Given the description of an element on the screen output the (x, y) to click on. 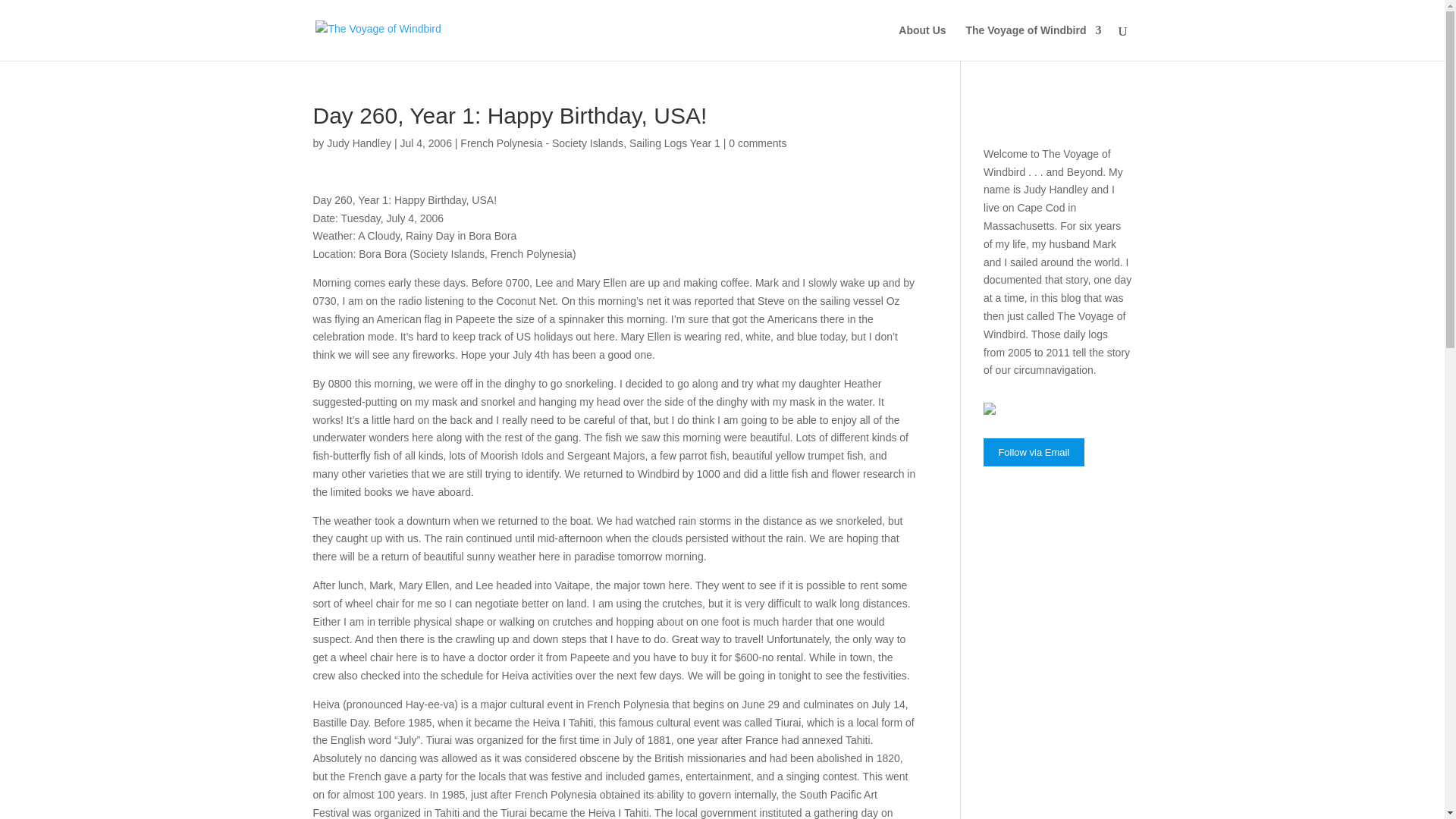
The Voyage of Windbird (1032, 42)
Follow via Email (1034, 452)
Sailing Logs Year 1 (674, 143)
Judy Handley (358, 143)
About Us (921, 42)
0 comments (757, 143)
French Polynesia - Society Islands (541, 143)
Posts by Judy Handley (358, 143)
